Given the description of an element on the screen output the (x, y) to click on. 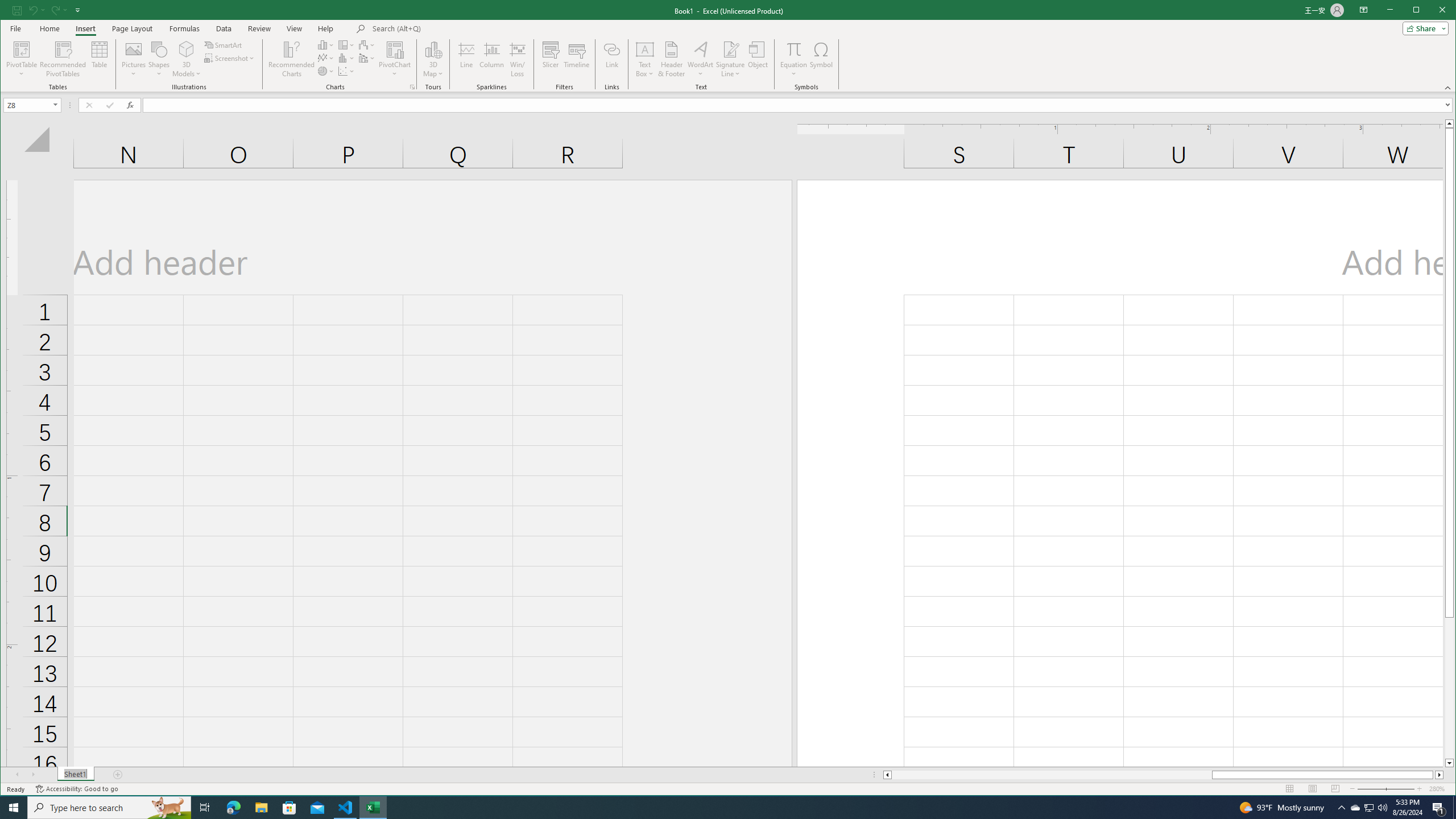
Search highlights icon opens search home window (167, 807)
Insert Scatter (X, Y) or Bubble Chart (346, 70)
Equation (793, 59)
